Given the description of an element on the screen output the (x, y) to click on. 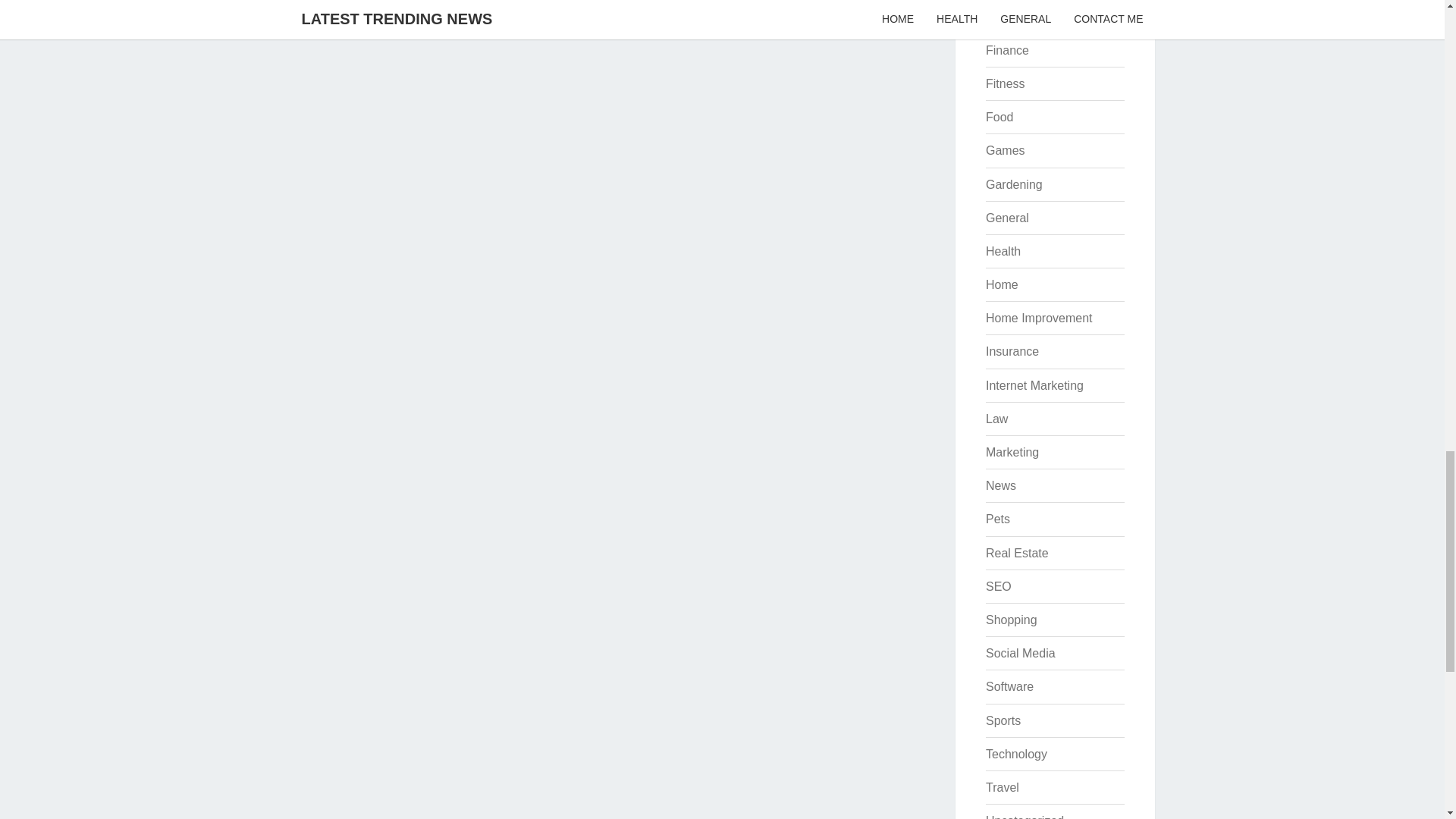
General (1007, 217)
Gardening (1013, 184)
Home Improvement (1039, 318)
Food (999, 116)
Home (1001, 284)
Health (1002, 250)
Games (1005, 150)
Fitness (1005, 83)
Finance (1007, 50)
Fashion (1007, 16)
